Given the description of an element on the screen output the (x, y) to click on. 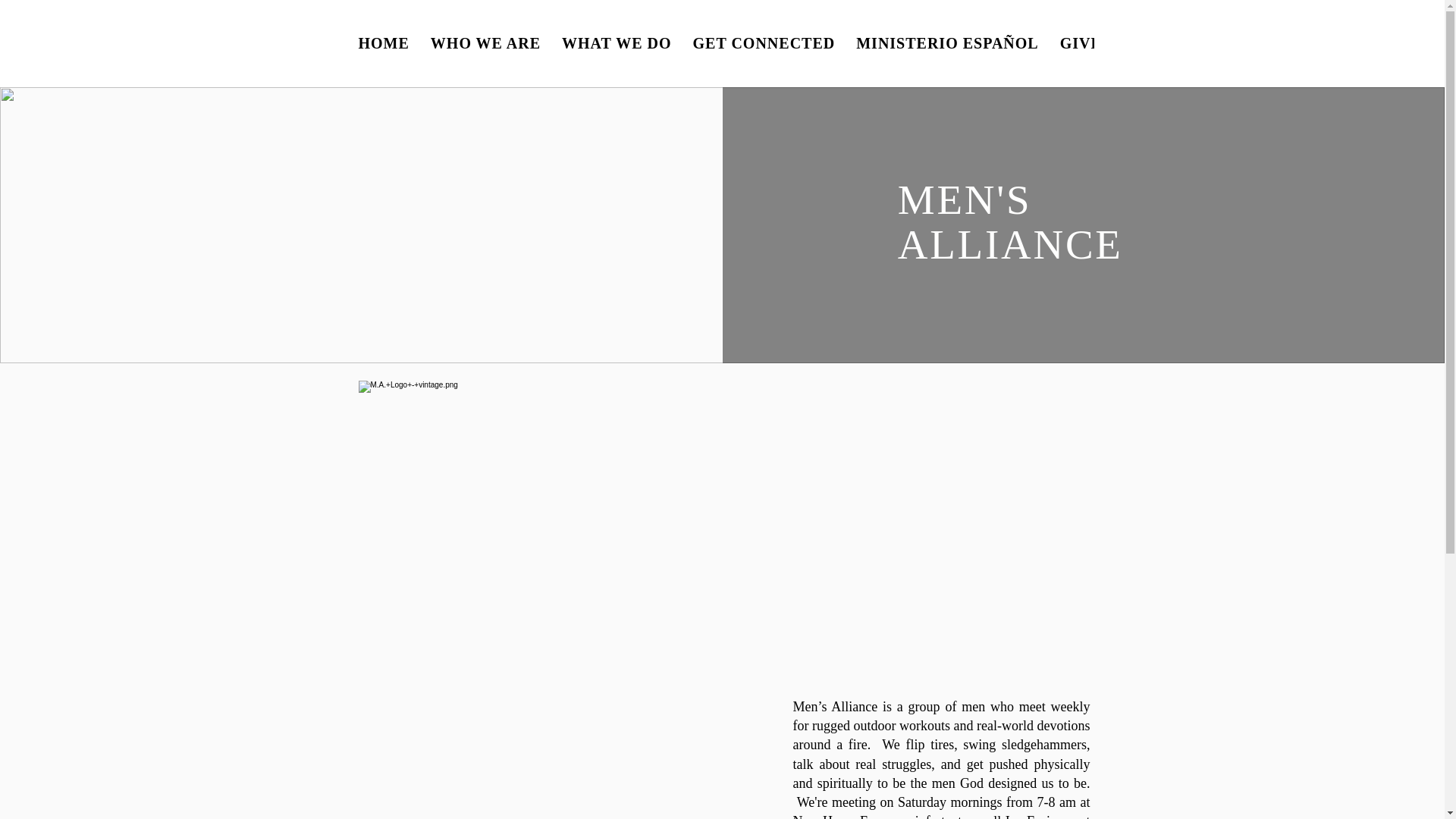
GIVE (1080, 42)
WHAT WE DO (616, 42)
WHO WE ARE (485, 42)
HOME (383, 42)
GET CONNECTED (764, 42)
